Given the description of an element on the screen output the (x, y) to click on. 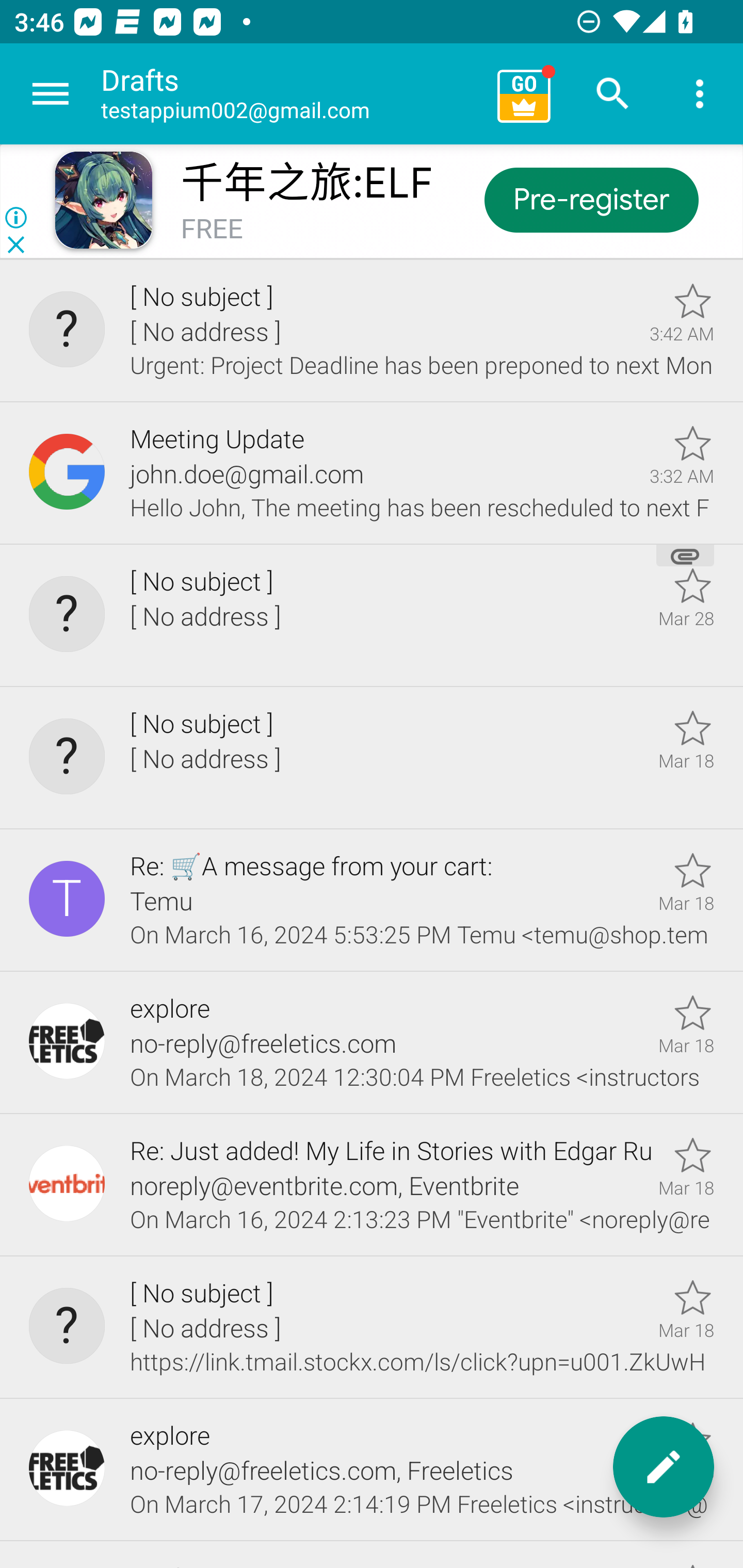
Navigate up (50, 93)
Drafts testappium002@gmail.com (291, 93)
Search (612, 93)
More options (699, 93)
[ No subject ], [ No address ], Mar 18 (371, 757)
New message (663, 1466)
